Given the description of an element on the screen output the (x, y) to click on. 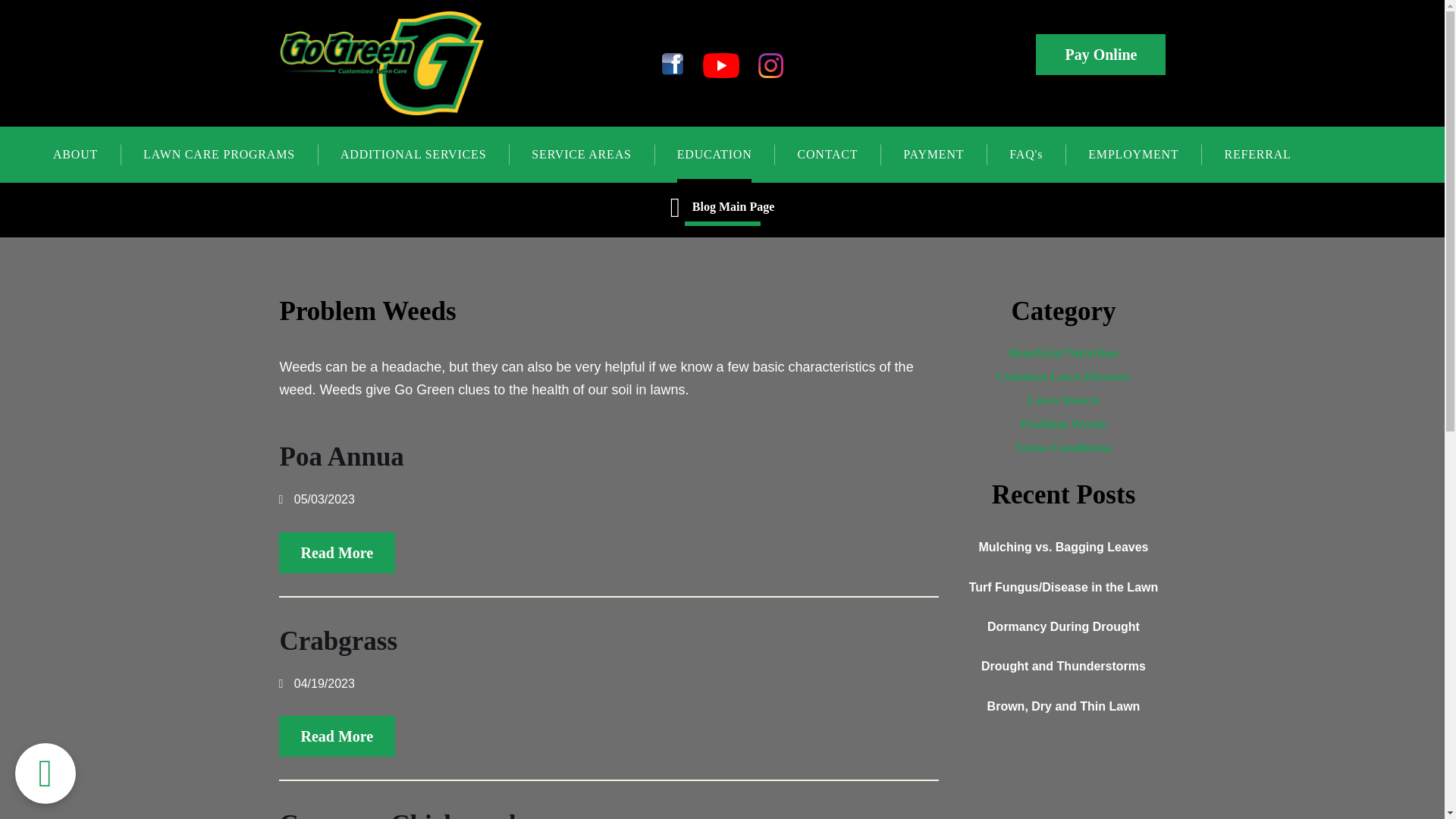
EMPLOYMENT (1132, 154)
Read More (337, 552)
Problem Weeds (1063, 424)
PAYMENT (932, 154)
LAWN CARE PROGRAMS (218, 154)
EDUCATION (714, 154)
Beneficial Nutrition (1063, 352)
Pay Online (1100, 54)
REFERRAL (1257, 154)
Lawn Insects (1063, 400)
Crabgrass (338, 641)
Poa Annua (341, 456)
Mulching vs. Bagging Leaves (1063, 546)
Read More (337, 735)
CONTACT (826, 154)
